Given the description of an element on the screen output the (x, y) to click on. 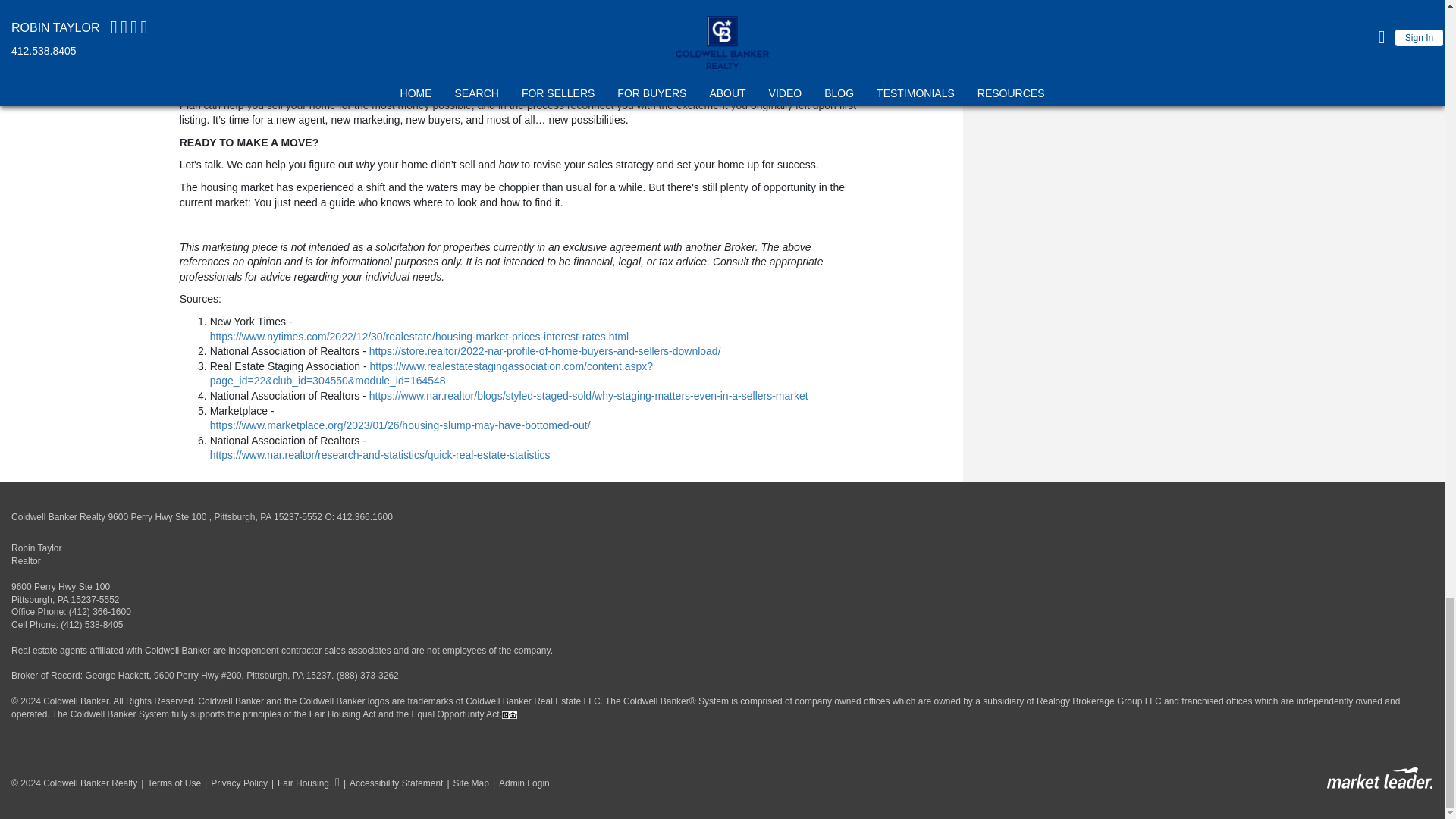
Powered By Market Leader (1379, 778)
